Given the description of an element on the screen output the (x, y) to click on. 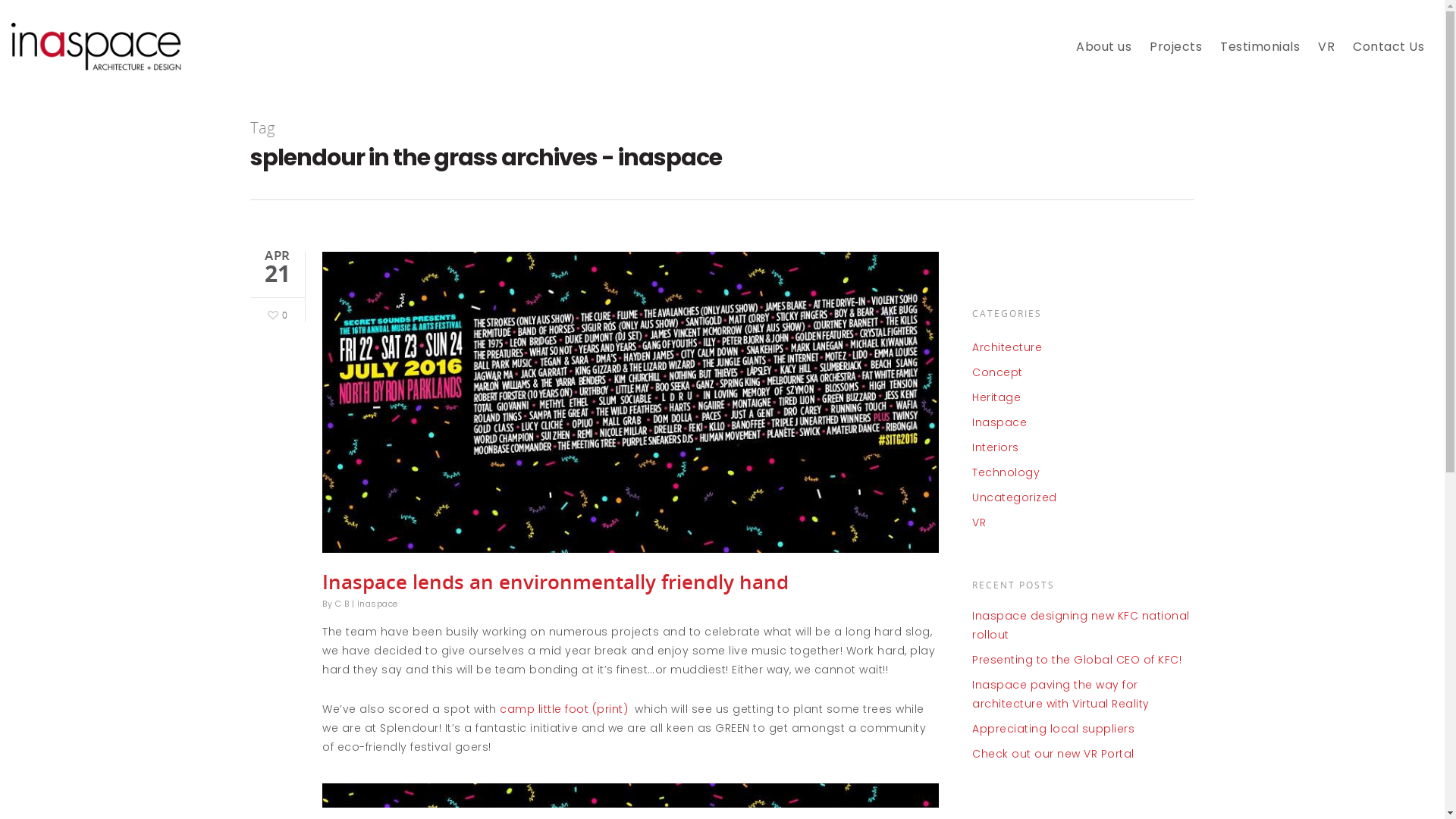
VR Element type: text (1325, 58)
VR Element type: text (1083, 522)
Testimonials Element type: text (1259, 58)
Check out our new VR Portal Element type: text (1083, 753)
Contact Us Element type: text (1388, 58)
Appreciating local suppliers Element type: text (1083, 728)
Technology Element type: text (1083, 472)
Inaspace Element type: text (376, 603)
Uncategorized Element type: text (1083, 497)
camp little foot (print)  Element type: text (565, 708)
Inaspace Element type: text (1083, 422)
0 Element type: text (276, 313)
Inaspace lends an environmentally friendly hand Element type: text (555, 581)
Heritage Element type: text (1083, 397)
Inaspace designing new KFC national rollout Element type: text (1083, 625)
Projects Element type: text (1175, 58)
C B Element type: text (342, 603)
Interiors Element type: text (1083, 447)
Presenting to the Global CEO of KFC! Element type: text (1083, 659)
Concept Element type: text (1083, 372)
About us Element type: text (1103, 58)
Architecture Element type: text (1083, 347)
